Given the description of an element on the screen output the (x, y) to click on. 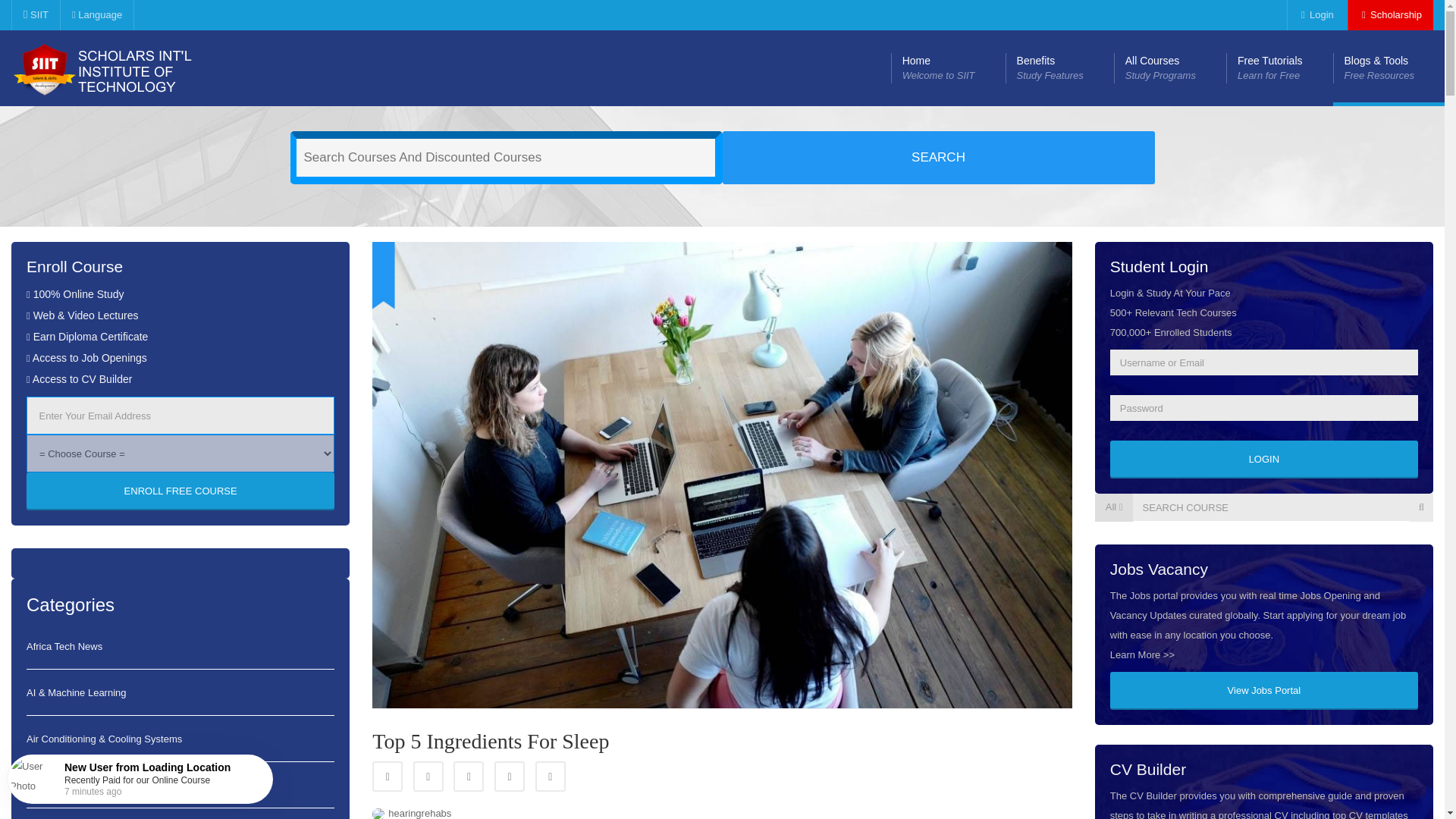
Portal Login (1315, 15)
SIIT (35, 15)
Share on Facebook (1059, 68)
View Jobs Portal (387, 776)
Email this (1169, 68)
Login (1263, 690)
Share on Google Plus (550, 776)
Pin this (1315, 15)
ENROLL FREE COURSE (467, 776)
Language (509, 776)
2024 IT Scholarship (180, 491)
 LOGIN  (96, 15)
